Given the description of an element on the screen output the (x, y) to click on. 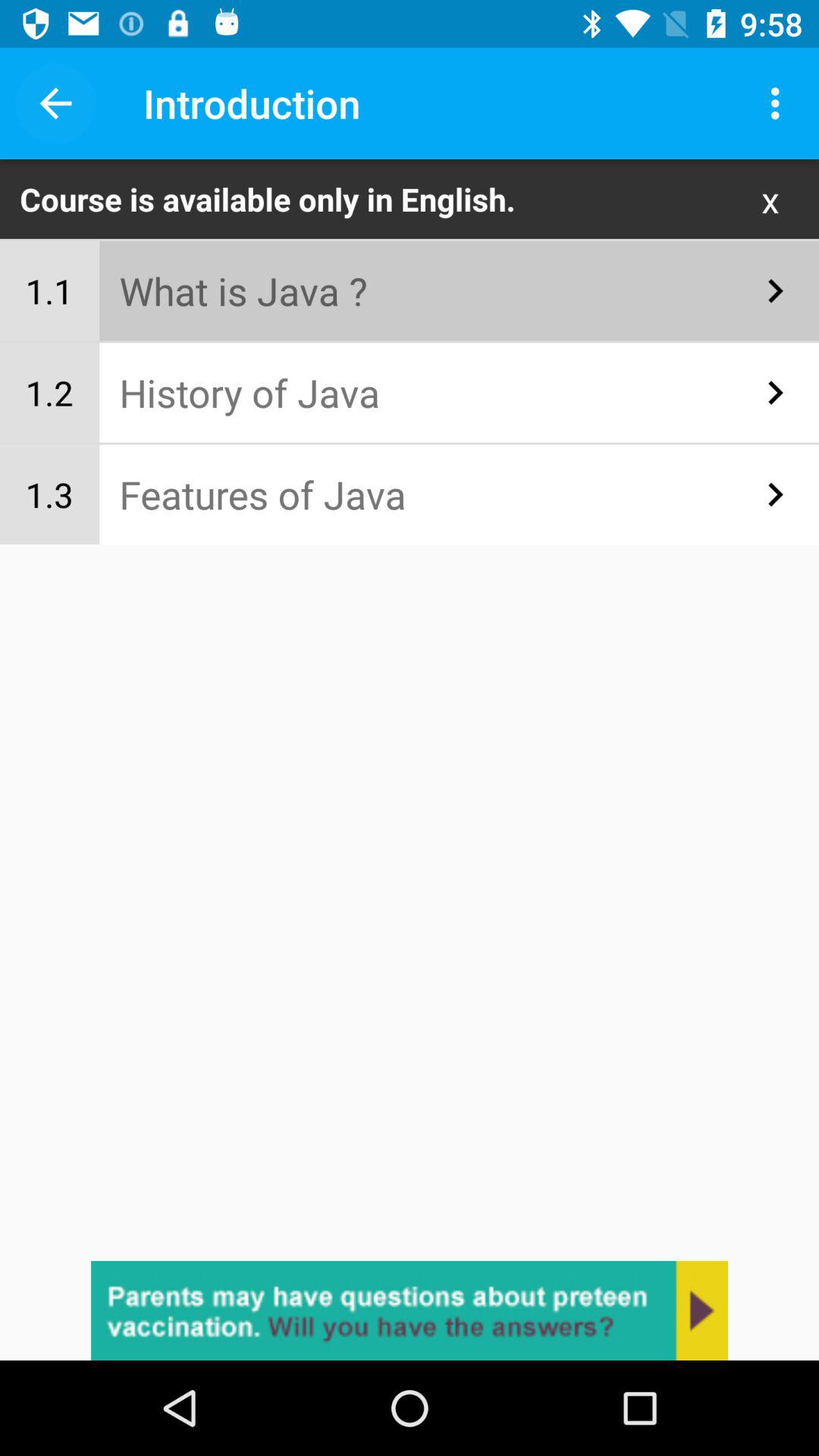
ask the question (409, 1310)
